Given the description of an element on the screen output the (x, y) to click on. 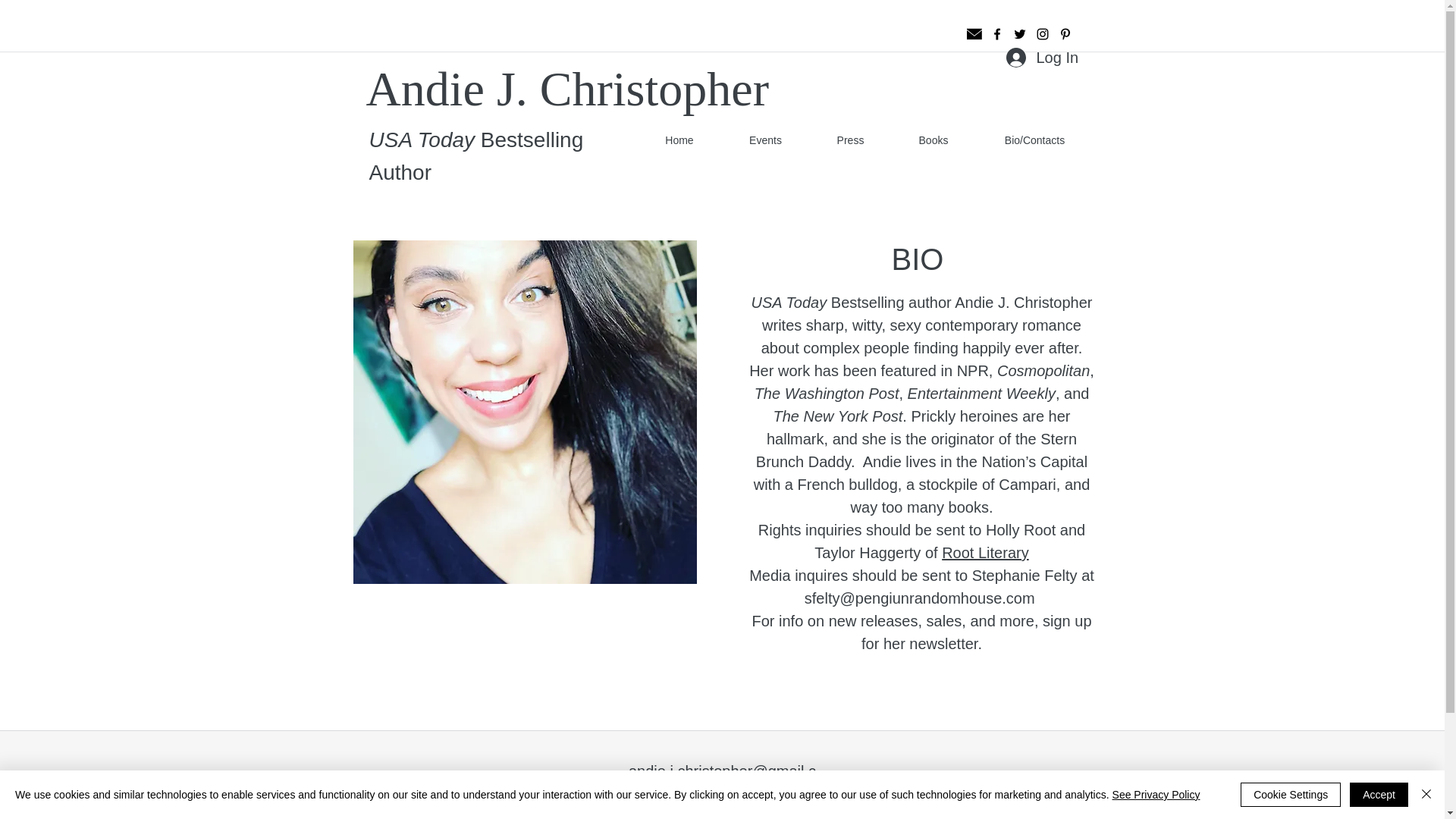
Root Literary (985, 552)
newsletter (942, 643)
Press (850, 139)
Cookie Settings (1290, 794)
Accept (1378, 794)
Events (765, 139)
Books (933, 139)
Home (678, 139)
See Privacy Policy (1155, 794)
Log In (1040, 57)
